Given the description of an element on the screen output the (x, y) to click on. 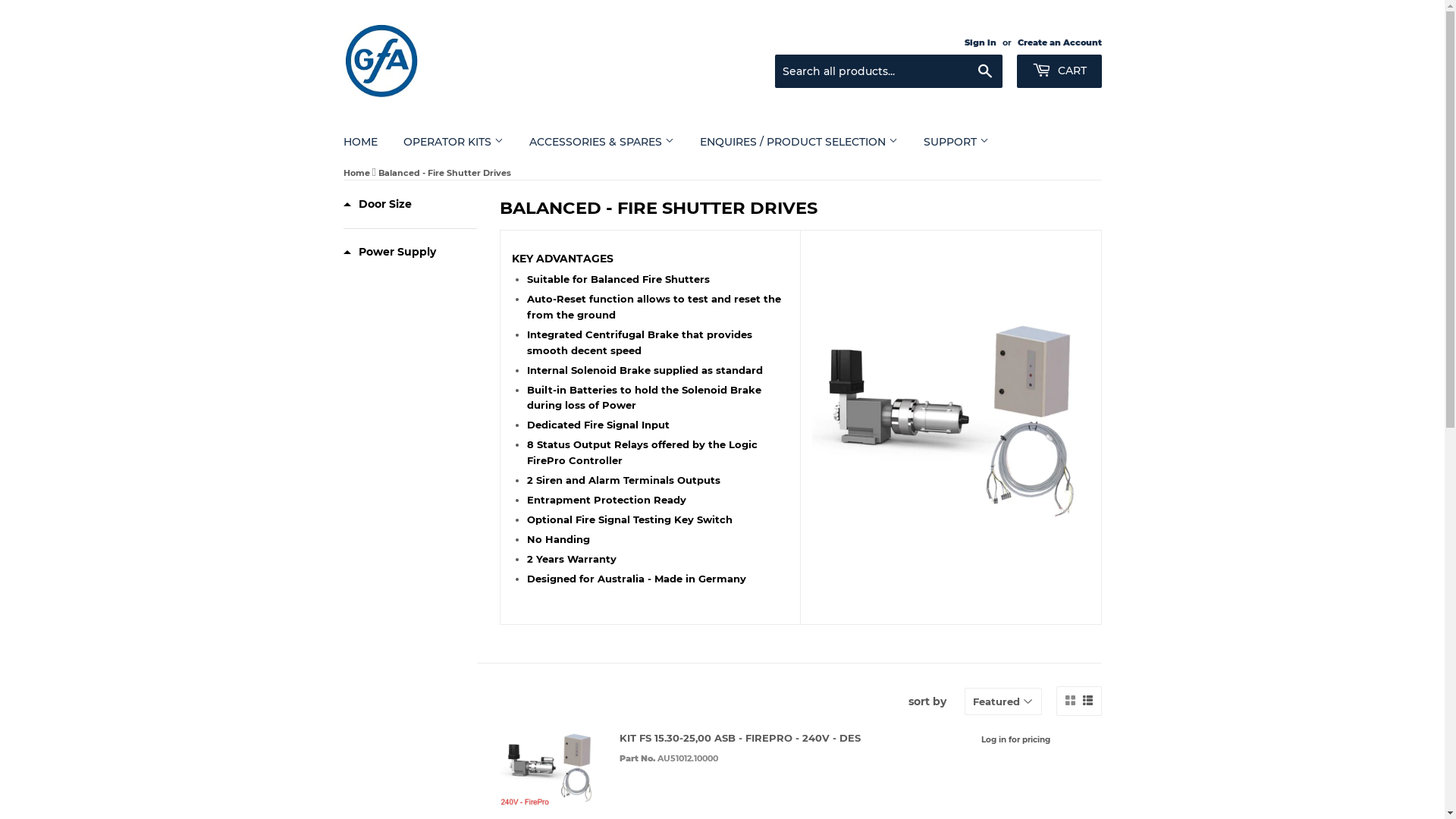
ENQUIRES / PRODUCT SELECTION Element type: text (798, 141)
List view Element type: hover (1087, 700)
OPERATOR KITS Element type: text (452, 141)
SUPPORT Element type: text (955, 141)
CART Element type: text (1058, 70)
HOME Element type: text (360, 141)
Create an Account Element type: text (1059, 42)
ACCESSORIES & SPARES Element type: text (600, 141)
Grid view Element type: hover (1069, 700)
Sign in Element type: text (980, 42)
Home Element type: text (355, 173)
Search Element type: text (984, 71)
